Given the description of an element on the screen output the (x, y) to click on. 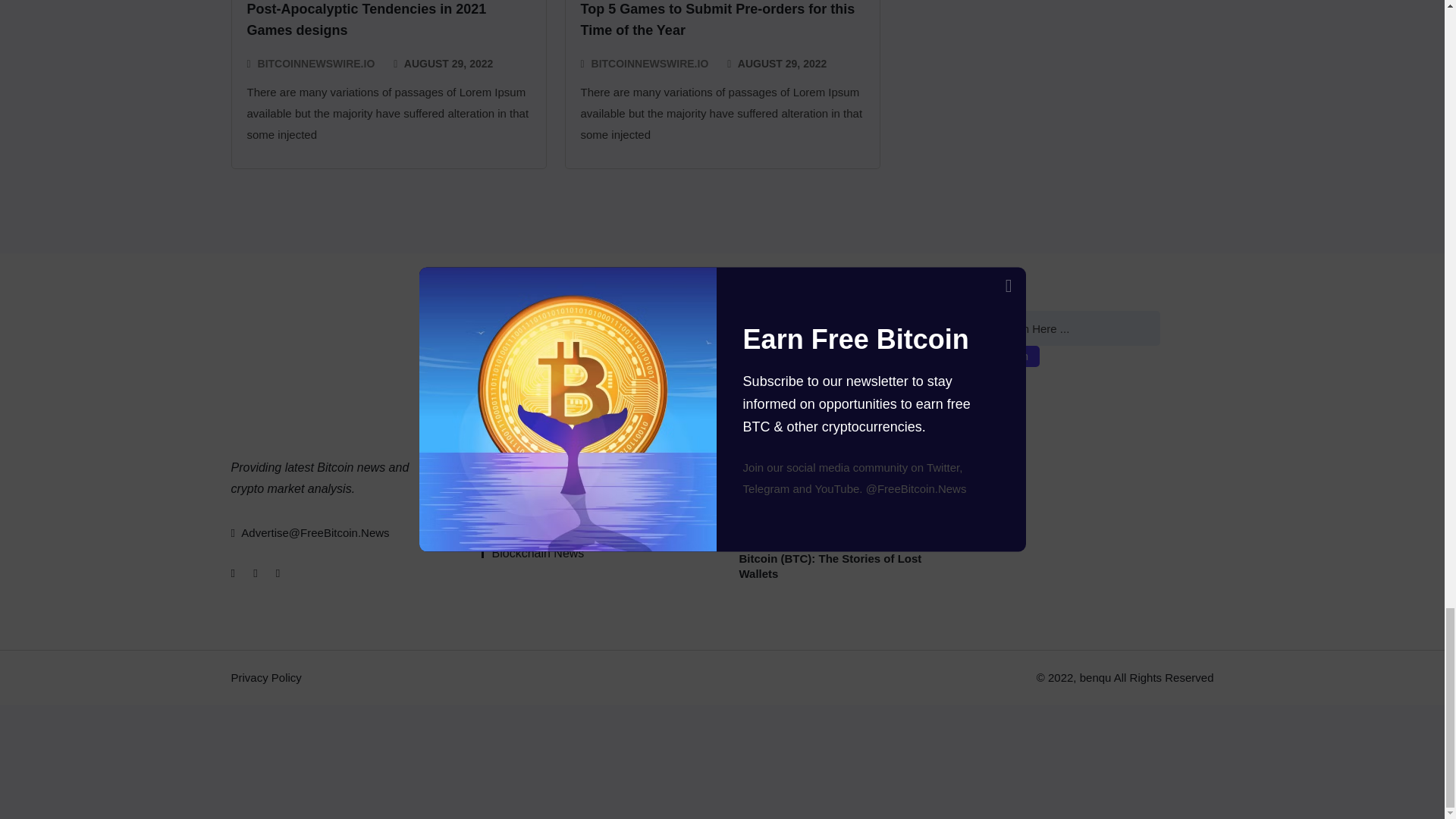
Posts by bitcoinnewswire.io (316, 63)
Posts by bitcoinnewswire.io (650, 63)
